Given the description of an element on the screen output the (x, y) to click on. 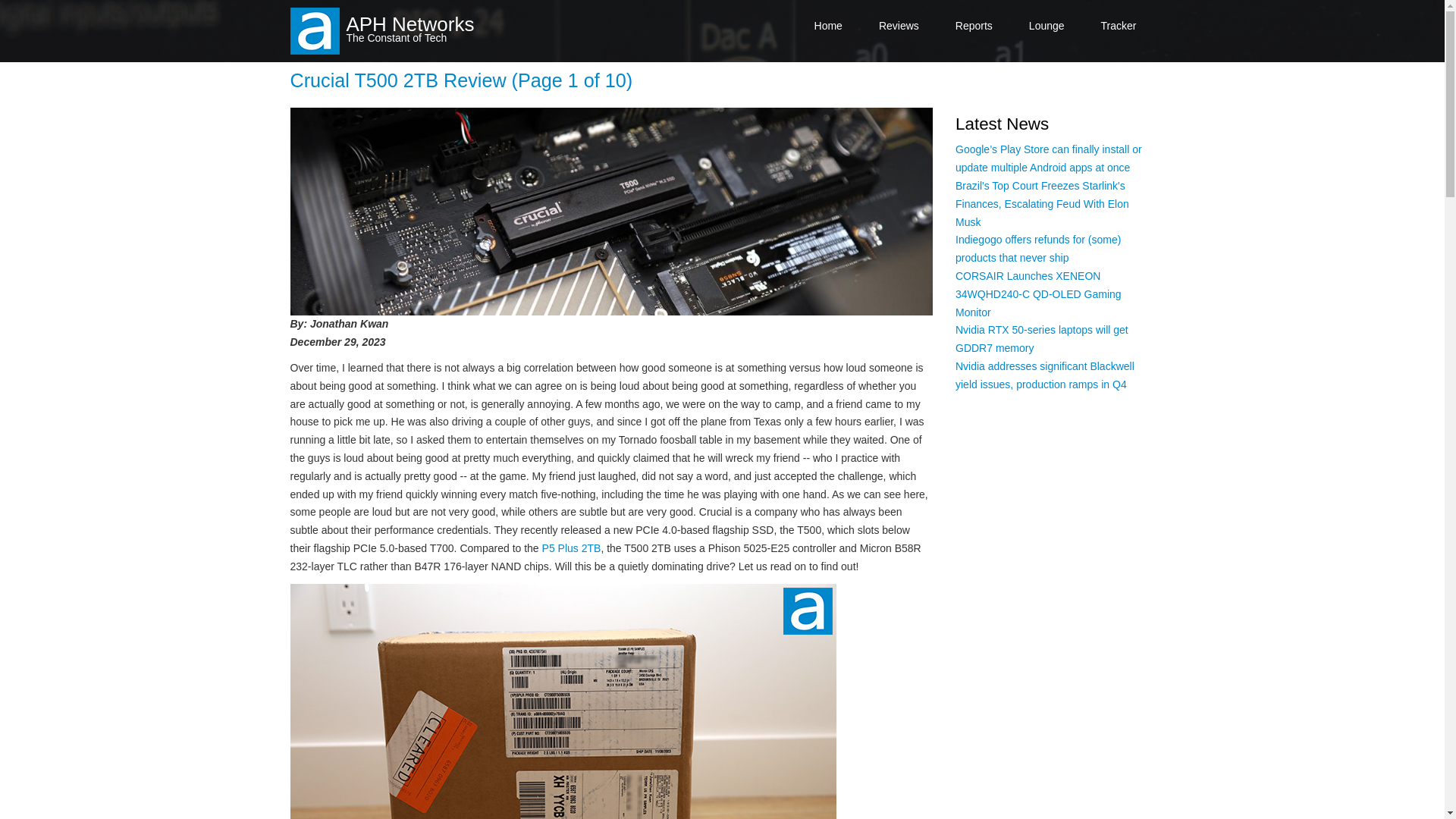
Lounge (1046, 26)
Return to APH Networks Main (828, 26)
Home (828, 26)
Nvidia RTX 50-series laptops will get GDDR7 memory (1041, 338)
Tracker (1118, 26)
Cool products, funny stuff, tutorials (1046, 26)
Home (410, 24)
P5 Plus 2TB (571, 548)
APH Networks (410, 24)
